Given the description of an element on the screen output the (x, y) to click on. 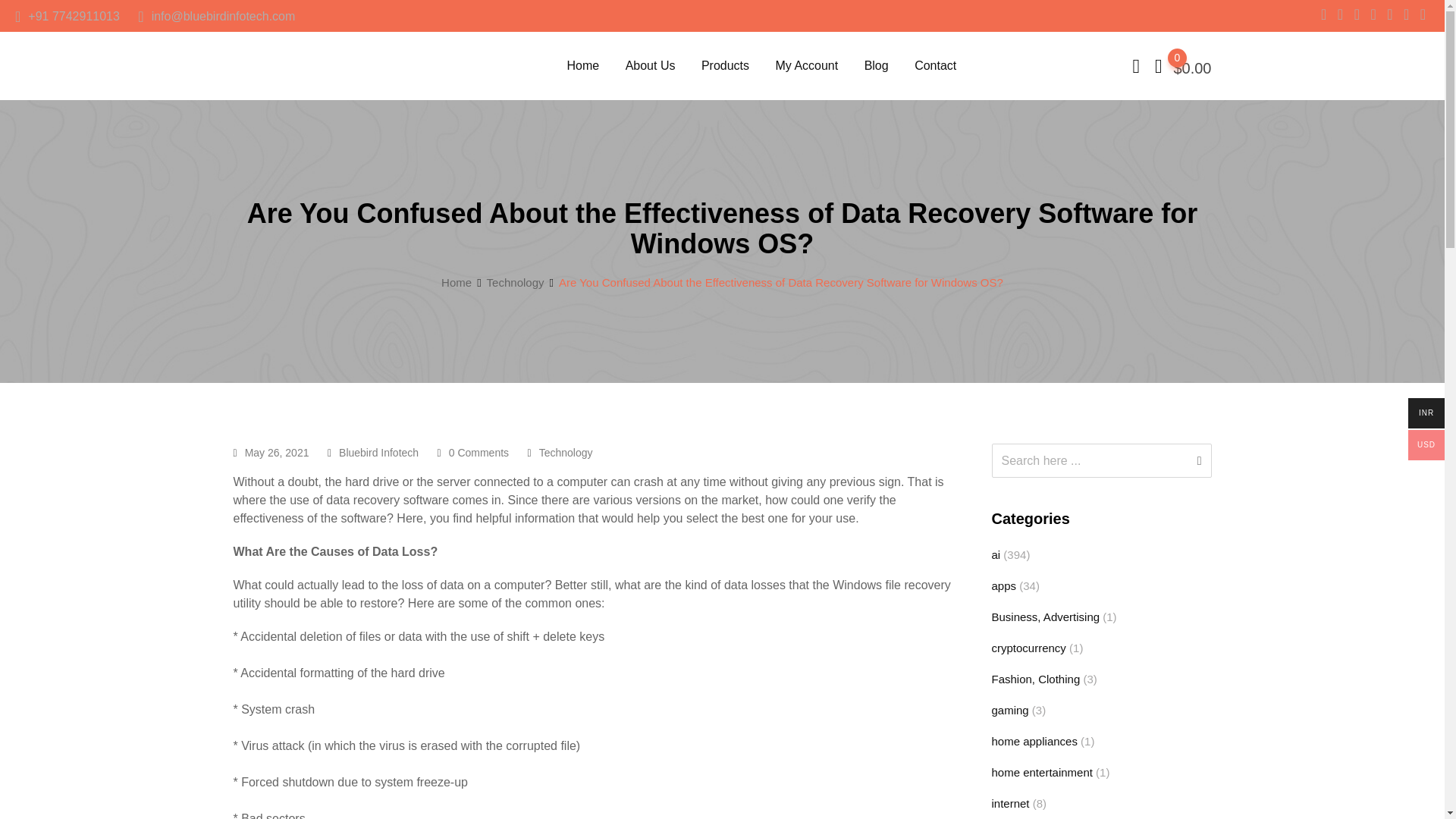
Contact (935, 65)
My Account (805, 65)
Technology (515, 282)
Bluebird Infotech (379, 452)
Search (1089, 460)
About Us (650, 65)
Technology (565, 452)
Home (456, 282)
Products (725, 65)
